Given the description of an element on the screen output the (x, y) to click on. 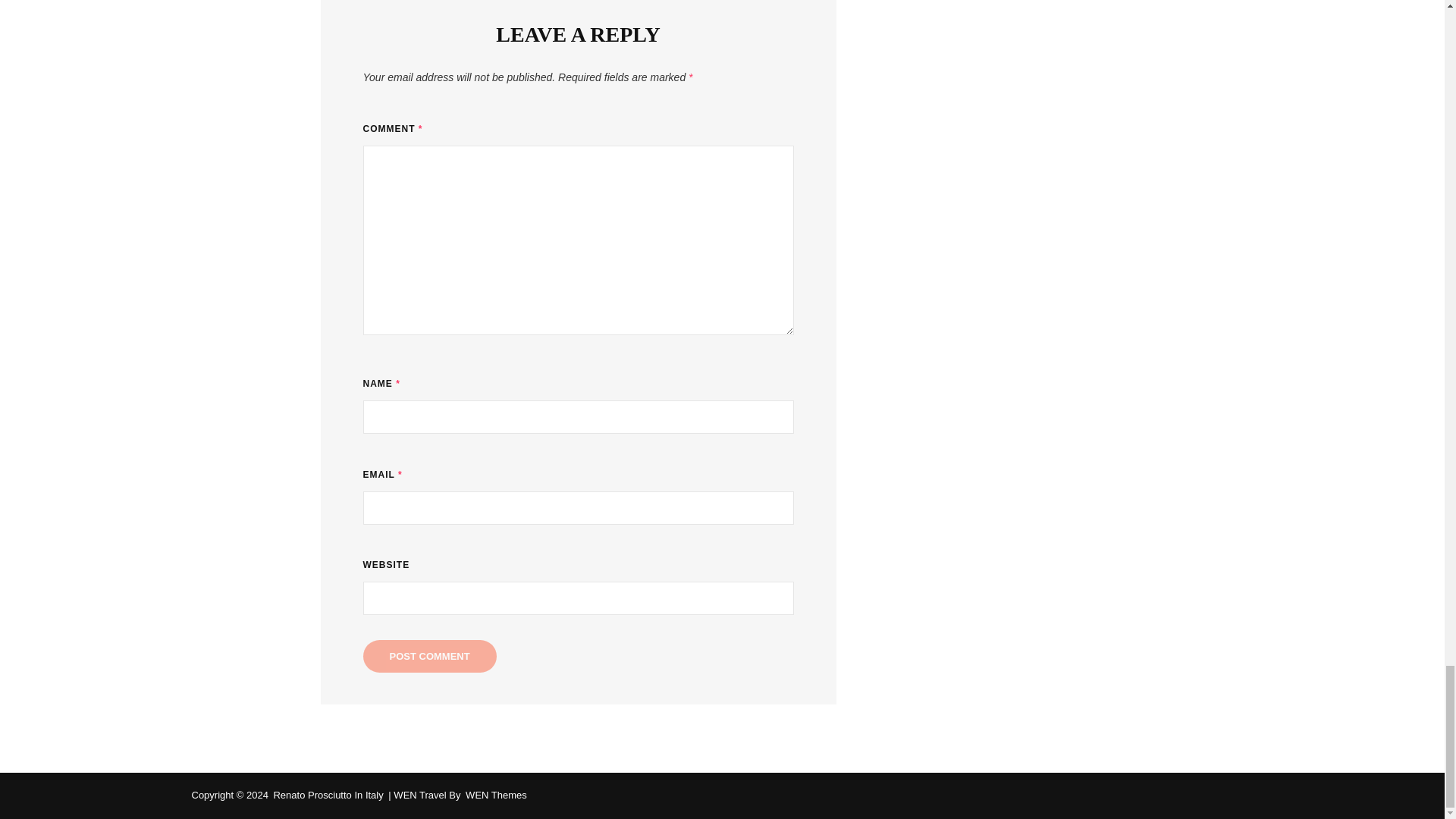
Post Comment (429, 655)
